Given the description of an element on the screen output the (x, y) to click on. 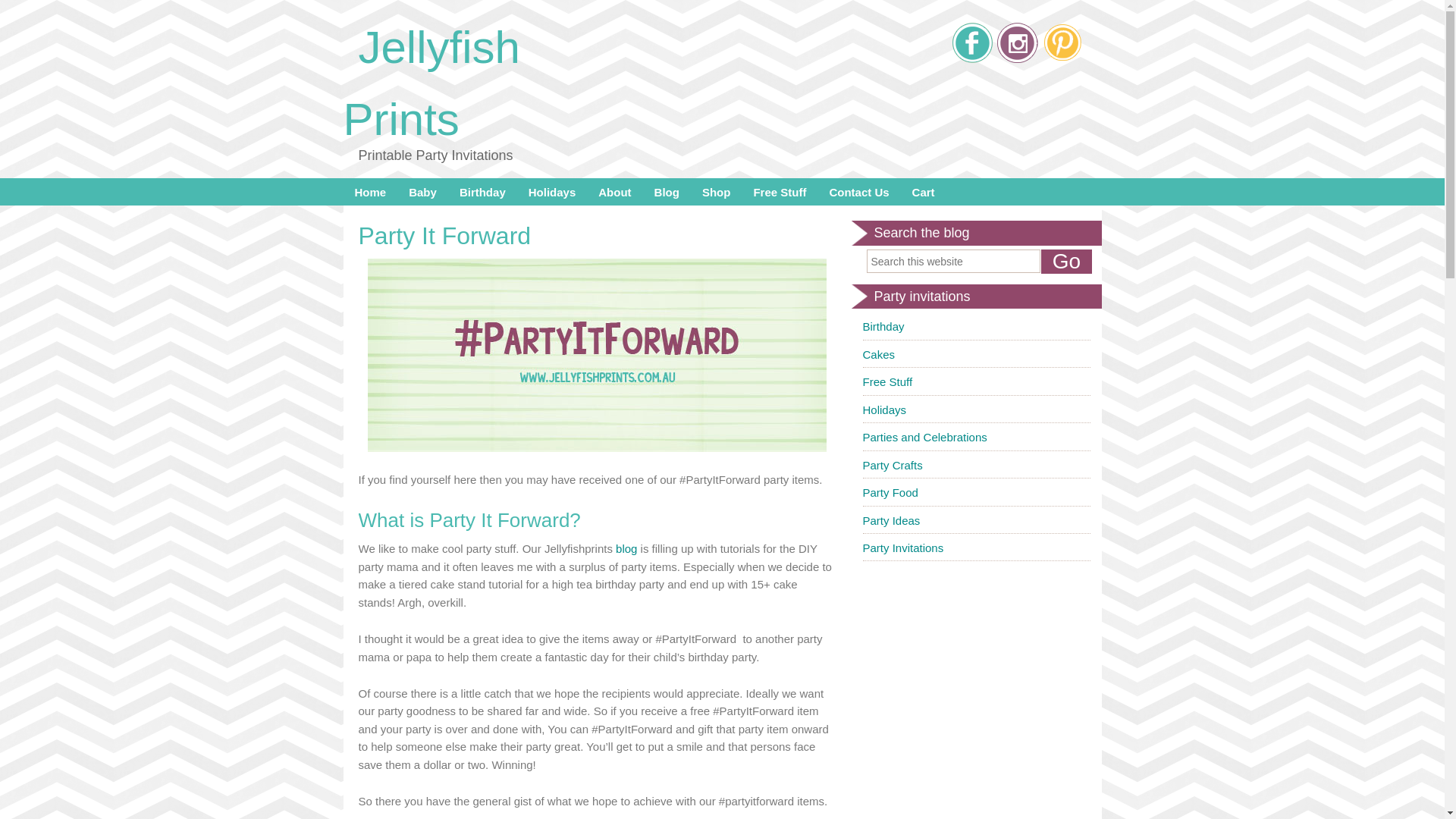
Birthday Element type: text (883, 326)
Go Element type: text (1066, 261)
Party Food Element type: text (890, 492)
Party Crafts Element type: text (892, 464)
Party Invitations Element type: text (903, 547)
Home Element type: text (369, 191)
Facebook Element type: text (972, 42)
Parties and Celebrations Element type: text (924, 436)
Birthday Element type: text (482, 191)
Holidays Element type: text (552, 191)
Cakes Element type: text (878, 354)
Party Ideas Element type: text (891, 520)
Baby Element type: text (422, 191)
blog Element type: text (626, 548)
Shop Element type: text (716, 191)
Jellyfish Prints Element type: text (430, 82)
Cart Element type: text (923, 191)
Holidays Element type: text (884, 409)
Pinterest Element type: text (1061, 42)
Free Stuff Element type: text (779, 191)
Flickr Element type: text (1016, 42)
Free Stuff Element type: text (887, 381)
About Element type: text (614, 191)
Blog Element type: text (666, 191)
Contact Us Element type: text (858, 191)
